Given the description of an element on the screen output the (x, y) to click on. 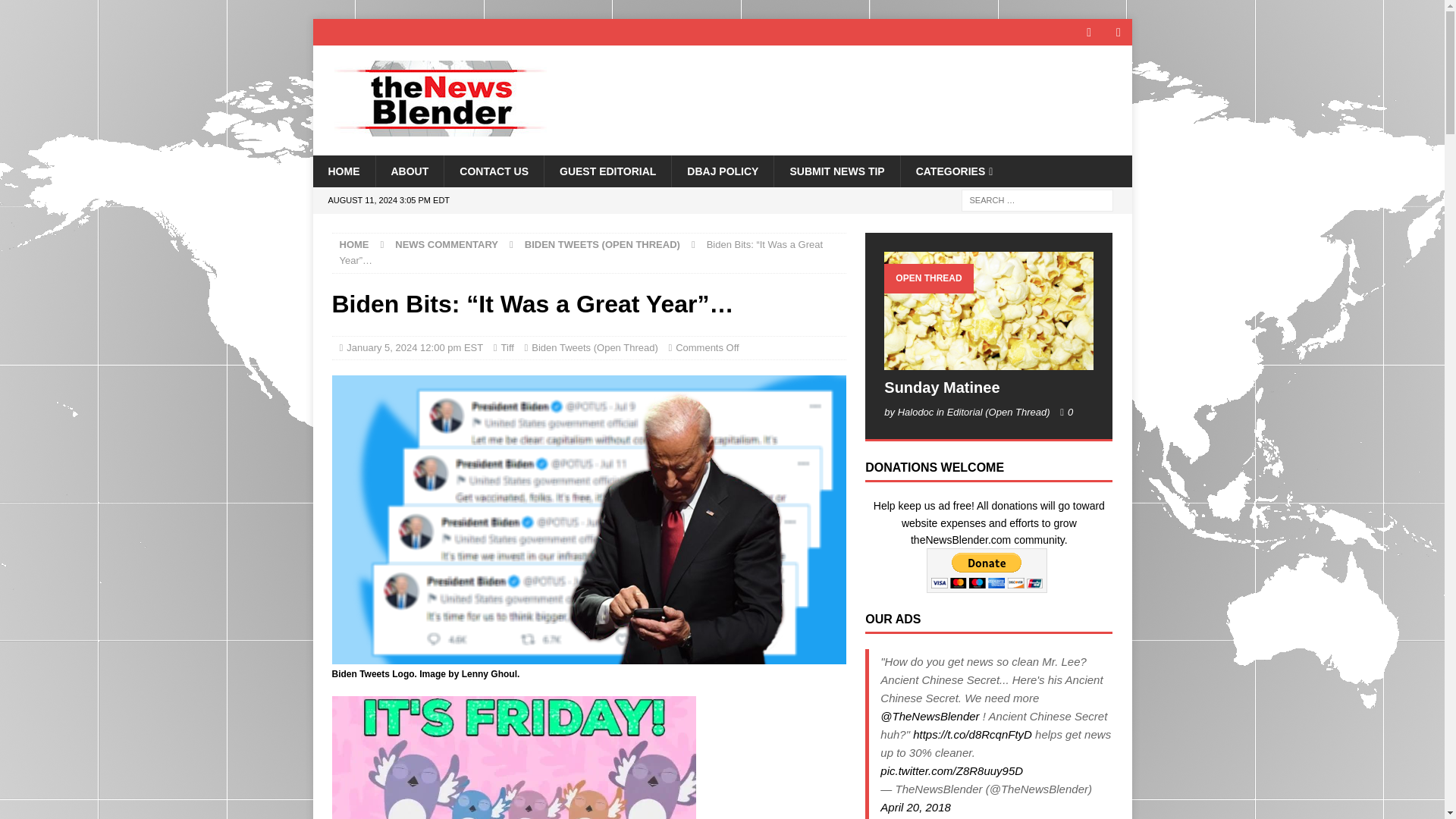
SUBMIT NEWS TIP (836, 171)
HOME (354, 244)
DBAJ POLICY (722, 171)
GUEST EDITORIAL (607, 171)
CONTACT US (493, 171)
CATEGORIES (954, 171)
Search (56, 11)
Sunday Matinee (988, 310)
Sunday Matinee (940, 387)
